Given the description of an element on the screen output the (x, y) to click on. 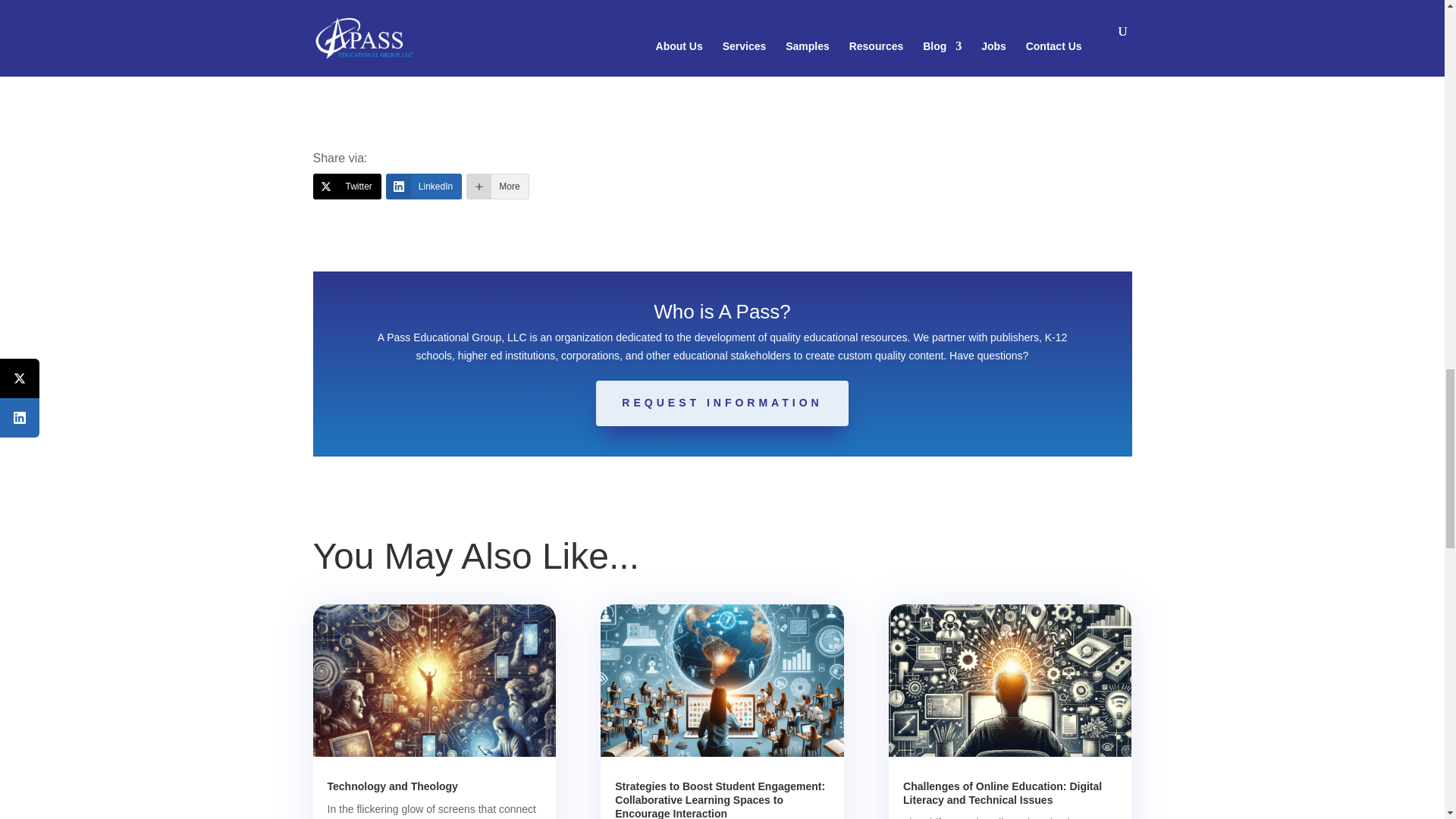
Technology and Theology (392, 786)
More (496, 186)
Twitter (346, 186)
REQUEST INFORMATION (721, 402)
LinkedIn (423, 186)
